Given the description of an element on the screen output the (x, y) to click on. 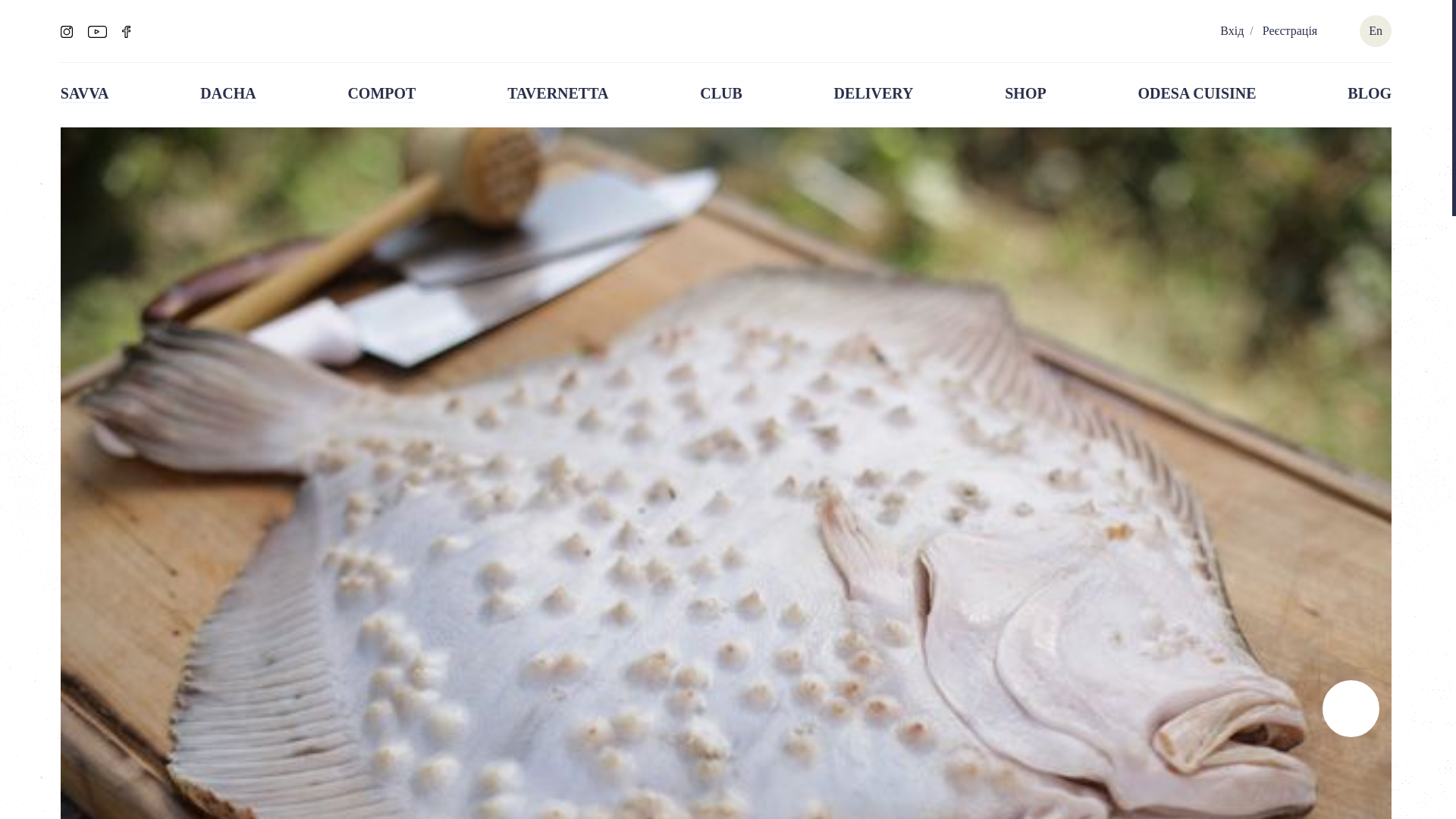
ODESA CUISINE (1196, 93)
DELIVERY (874, 93)
En (1374, 30)
SAVVA (85, 93)
DACHA (228, 93)
TAVERNETTA (557, 93)
CLUB (721, 93)
COMPOT (380, 93)
SHOP (1024, 93)
BLOG (1369, 93)
